Given the description of an element on the screen output the (x, y) to click on. 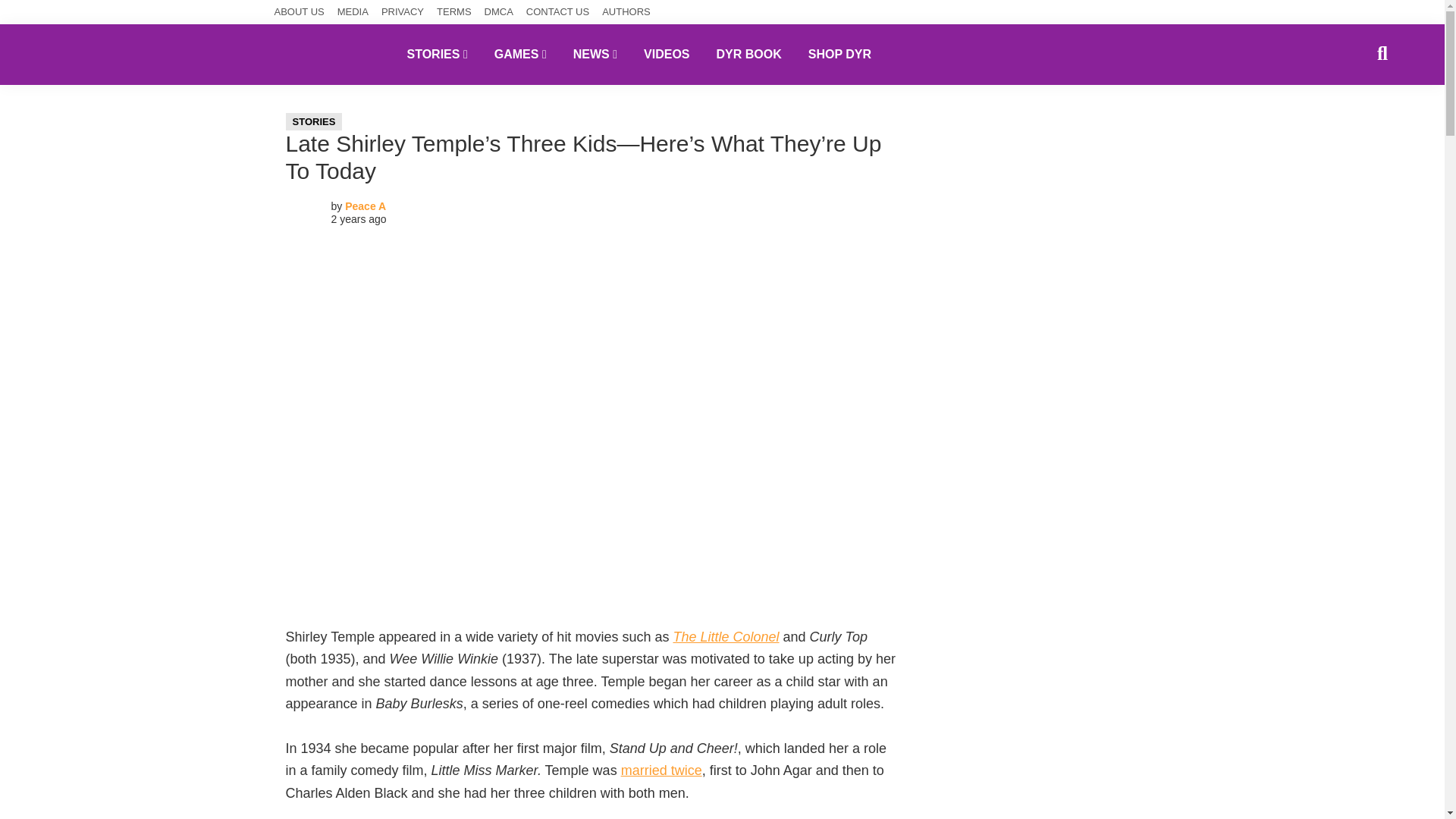
TERMS (453, 12)
DMCA (498, 12)
STORIES (314, 121)
SHOP DYR (839, 54)
Peace A (365, 205)
MEDIA (352, 12)
PRIVACY (402, 12)
NEWS (595, 54)
VIDEOS (665, 54)
